Given the description of an element on the screen output the (x, y) to click on. 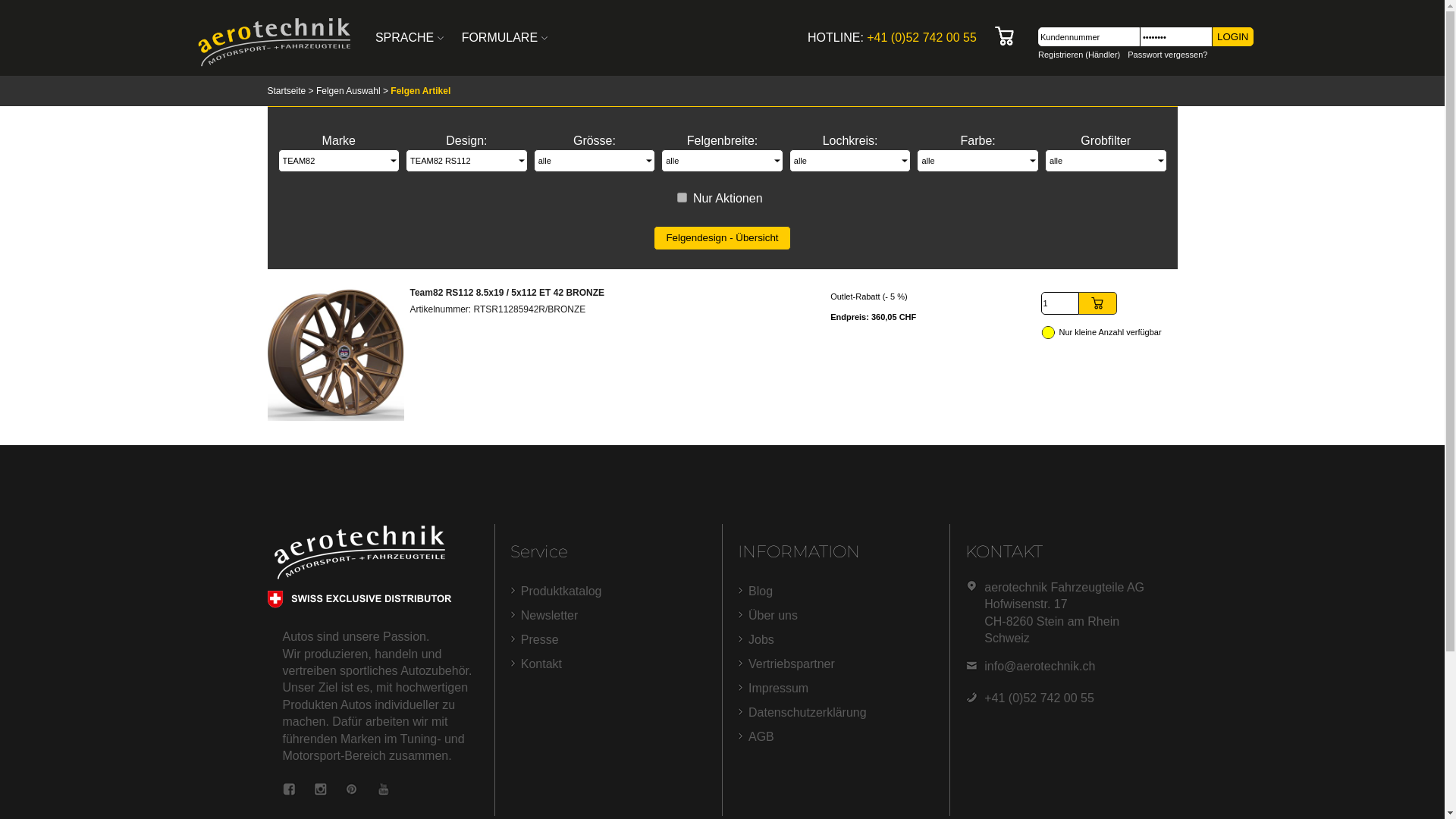
Startseite Element type: text (285, 90)
Produktkatalog Element type: text (561, 590)
Zum Warenkorb  Element type: hover (1004, 35)
  Element type: text (1010, 35)
Youtube Element type: hover (382, 790)
Kontakt Element type: text (540, 663)
Facebook Element type: hover (288, 790)
SPRACHE Element type: text (409, 37)
Felgen Auswahl Element type: text (348, 90)
Artikelnummer: RTSR11285942R/BRONZE Element type: text (497, 309)
Jobs Element type: text (761, 639)
AGB Element type: text (761, 736)
Newsletter Element type: text (549, 614)
Kundennummer Element type: text (1088, 36)
Pinterest Element type: hover (351, 790)
Home Element type: hover (274, 63)
Blog Element type: text (760, 590)
Impressum Element type: text (778, 687)
LOGIN Element type: text (1232, 36)
info@aerotechnik.ch Element type: text (1039, 665)
+41 (0)52 742 00 55 Element type: text (1039, 697)
Vertriebspartner Element type: text (791, 663)
Presse Element type: text (539, 639)
Team82 RS112 8.5x19 / 5x112 ET 42 BRONZE Element type: text (506, 292)
LOGIN Element type: text (1231, 35)
+41 (0)52 742 00 55 Element type: text (921, 37)
Passwort vergessen? Element type: text (1167, 54)
Password Element type: text (1175, 36)
Instagram Element type: hover (319, 790)
FORMULARE Element type: text (504, 37)
